Given the description of an element on the screen output the (x, y) to click on. 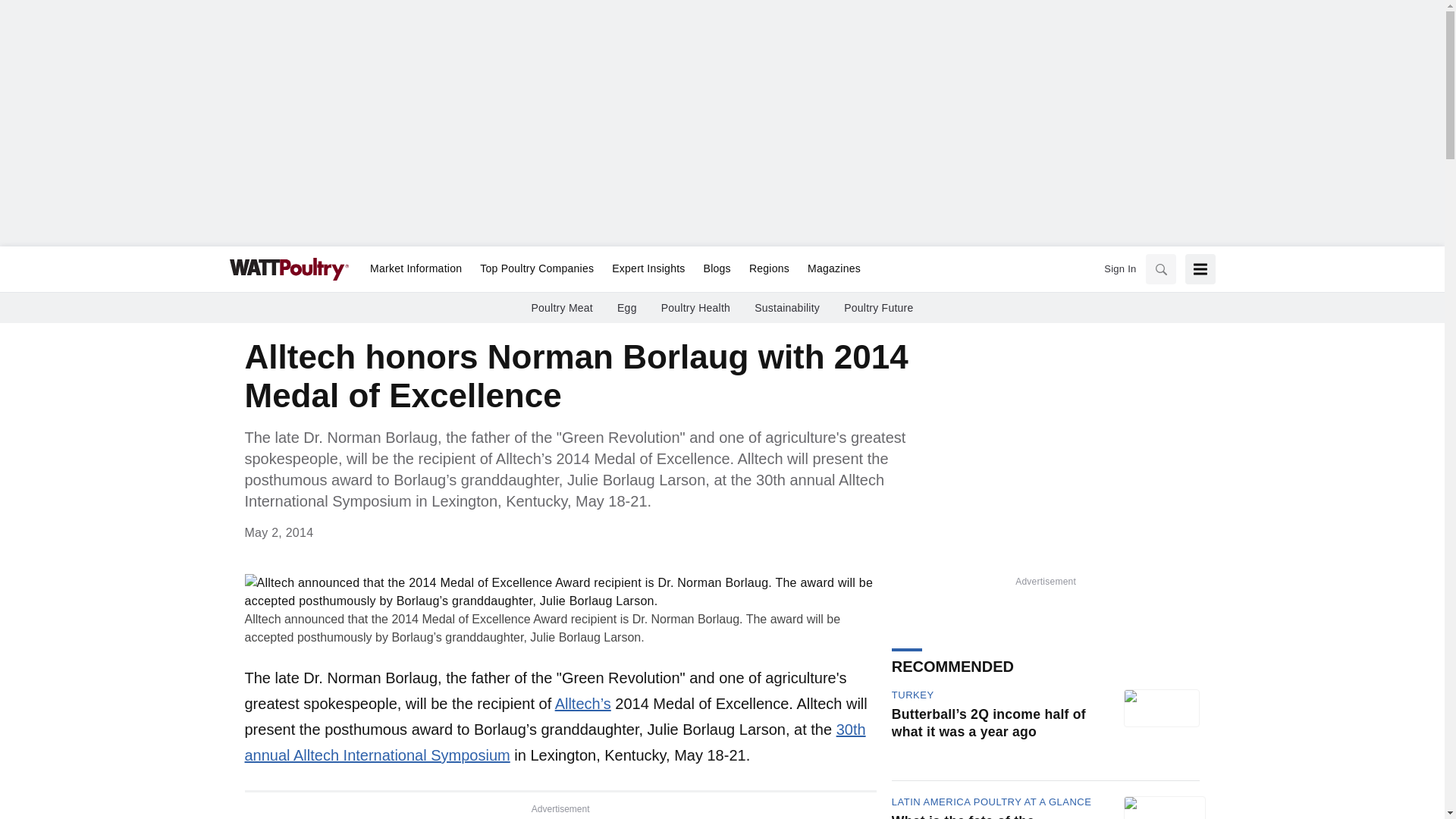
30th Annual Alltech International Symposium (554, 742)
Regions (768, 269)
Sustainability (786, 307)
Poultry Future (878, 307)
Poultry Meat (561, 307)
Market Information (415, 269)
Top Poultry Companies (536, 269)
Magazines (828, 269)
Expert Insights (648, 269)
Egg (627, 307)
Poultry Health (695, 307)
Blogs (716, 269)
Sign In (1119, 268)
